Given the description of an element on the screen output the (x, y) to click on. 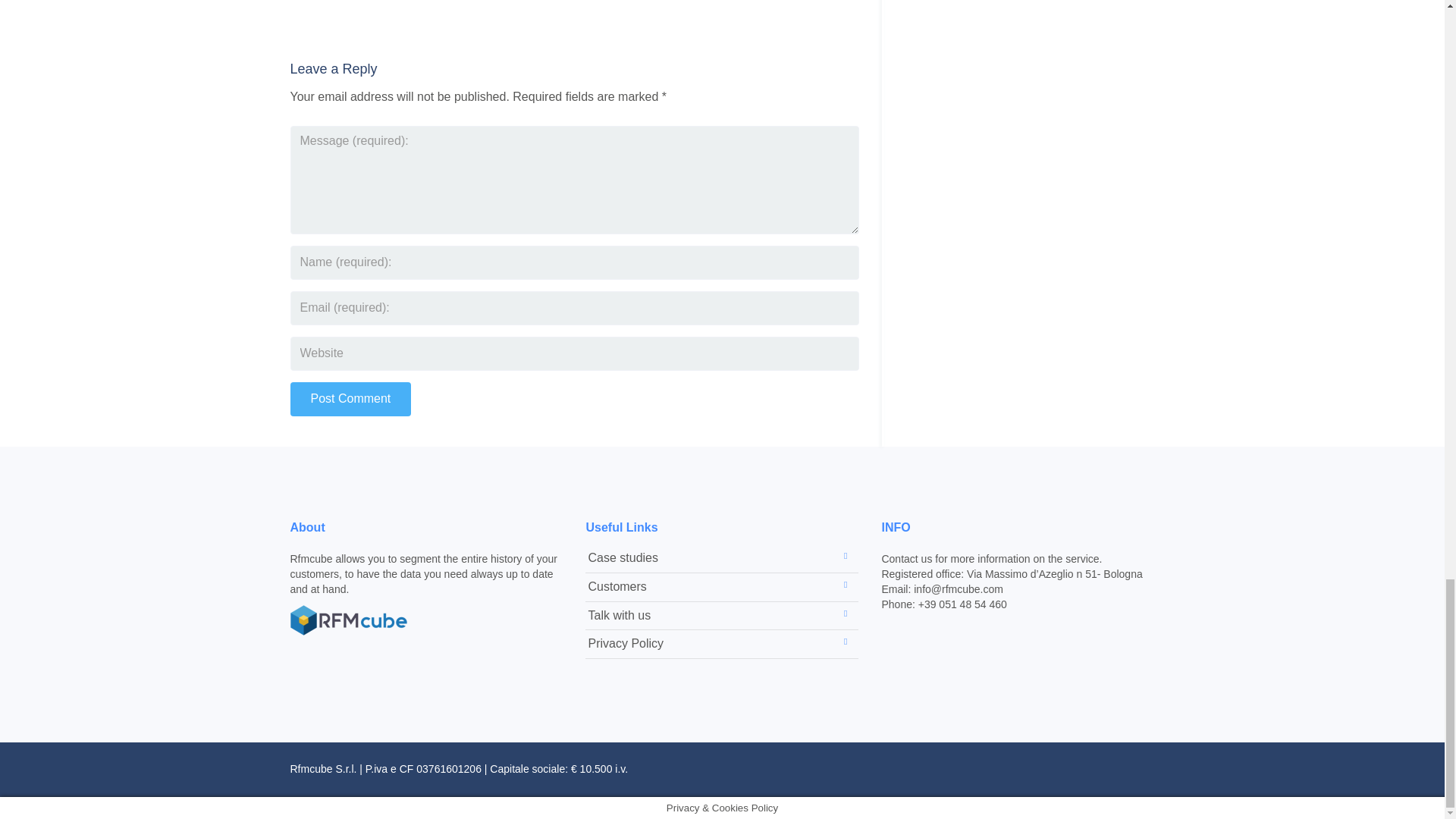
Post Comment (349, 399)
Post Comment (349, 399)
